Given the description of an element on the screen output the (x, y) to click on. 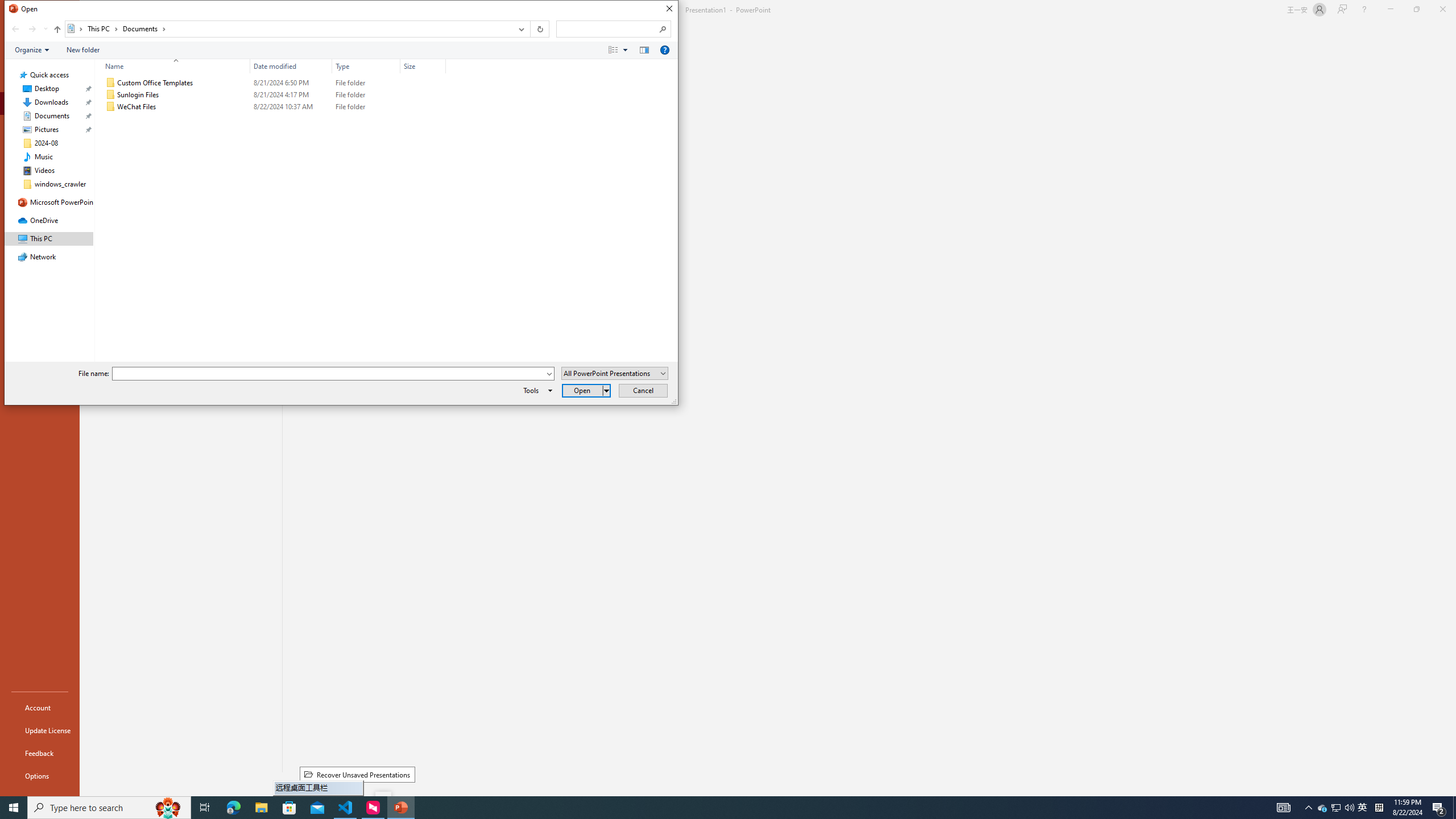
This PC (102, 28)
Tools (535, 390)
Back (Alt + Left Arrow) (15, 28)
Refresh "Documents" (F5) (538, 28)
Tools (535, 390)
Type (365, 65)
WeChat Files (273, 106)
Class: UIImage (111, 106)
Name (173, 65)
New folder (82, 49)
